Given the description of an element on the screen output the (x, y) to click on. 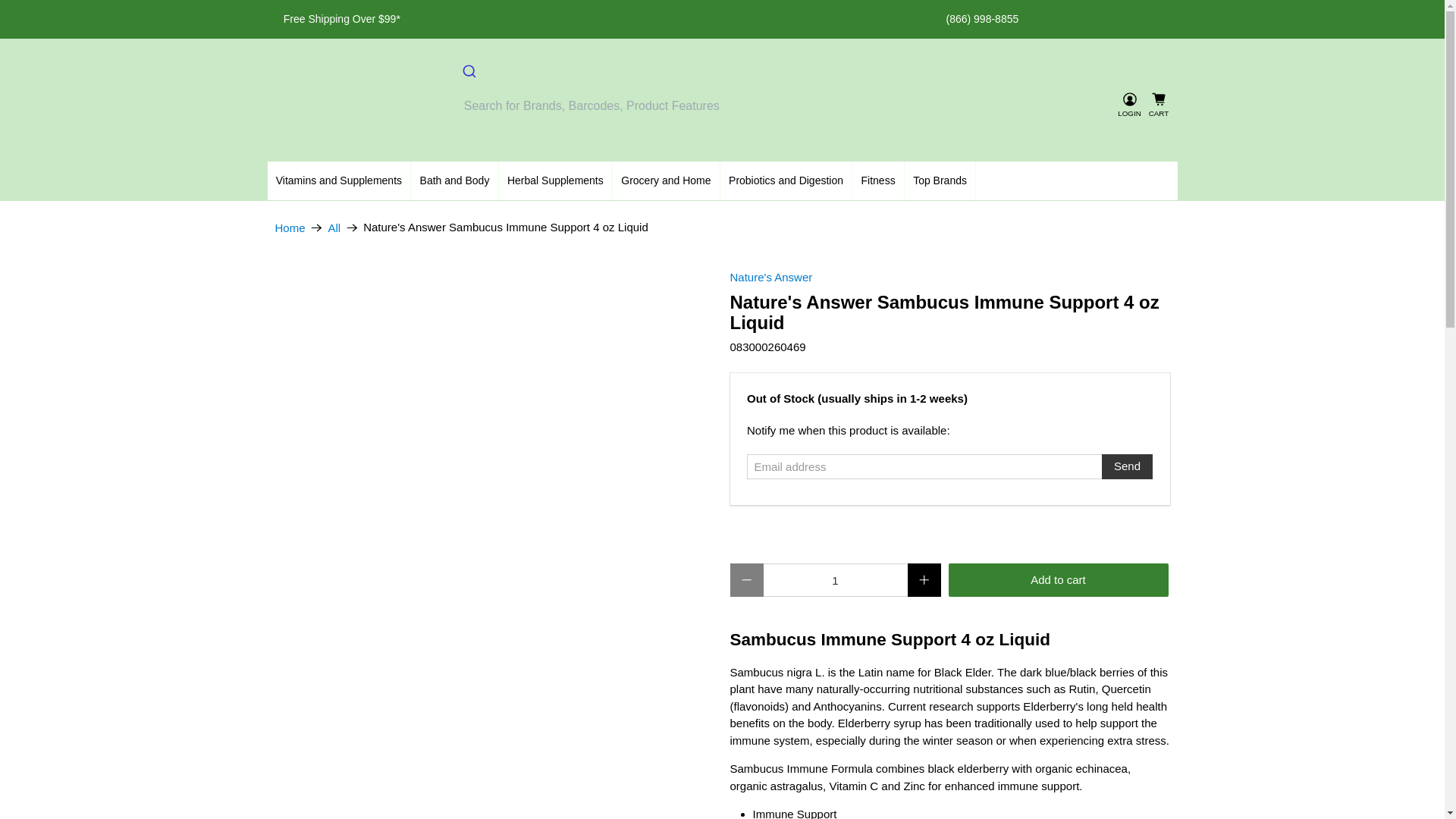
1 (834, 580)
Vitamins and Supplements (338, 180)
Probiotics and Digestion (785, 180)
Nature's Answer (770, 277)
VitaminLife (289, 226)
Bath and Body (453, 180)
VitaminLife (352, 105)
Fitness (877, 180)
Submit (467, 72)
Top Brands (939, 180)
